Given the description of an element on the screen output the (x, y) to click on. 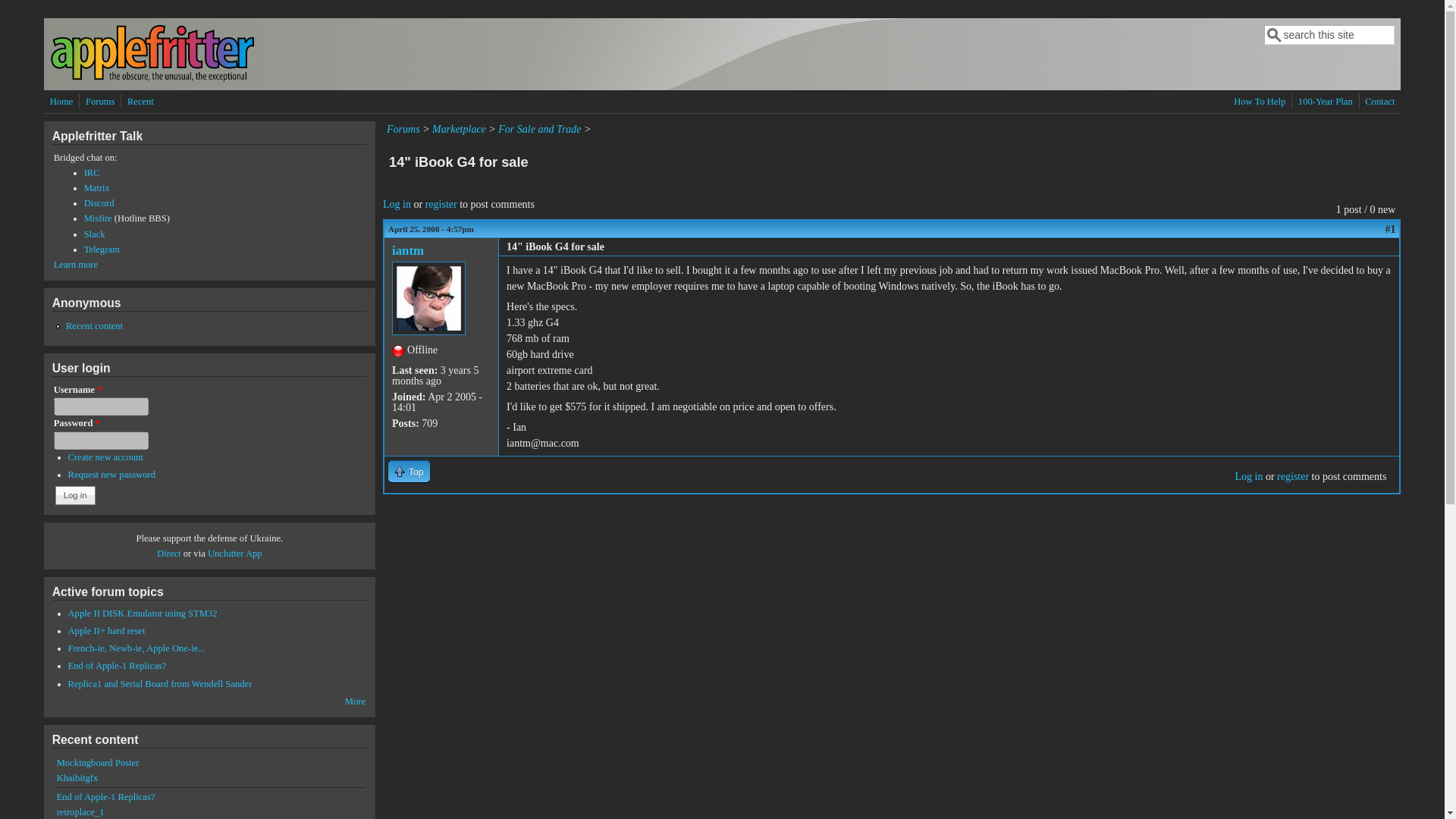
194 comments (142, 613)
iantm (407, 250)
Top (408, 471)
End of Apple-1 Replicas? (117, 665)
How To Help (1259, 101)
Learn more (75, 264)
search this site (1328, 35)
Create a new user account. (105, 457)
iantm's picture (428, 297)
Unclutter App (235, 552)
